Given the description of an element on the screen output the (x, y) to click on. 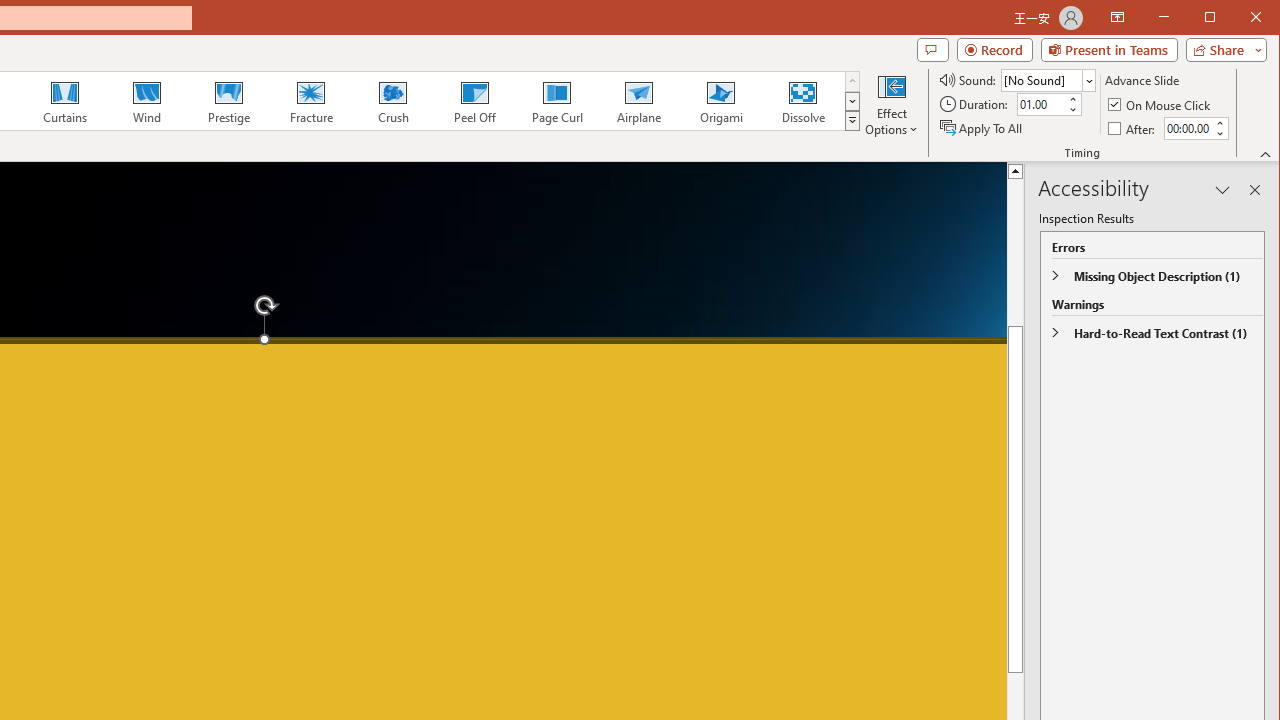
Apply To All (982, 127)
Curtains (65, 100)
On Mouse Click (1160, 103)
Page Curl (556, 100)
After (1187, 128)
Maximize (1238, 18)
Crush (392, 100)
Effect Options (891, 104)
